Given the description of an element on the screen output the (x, y) to click on. 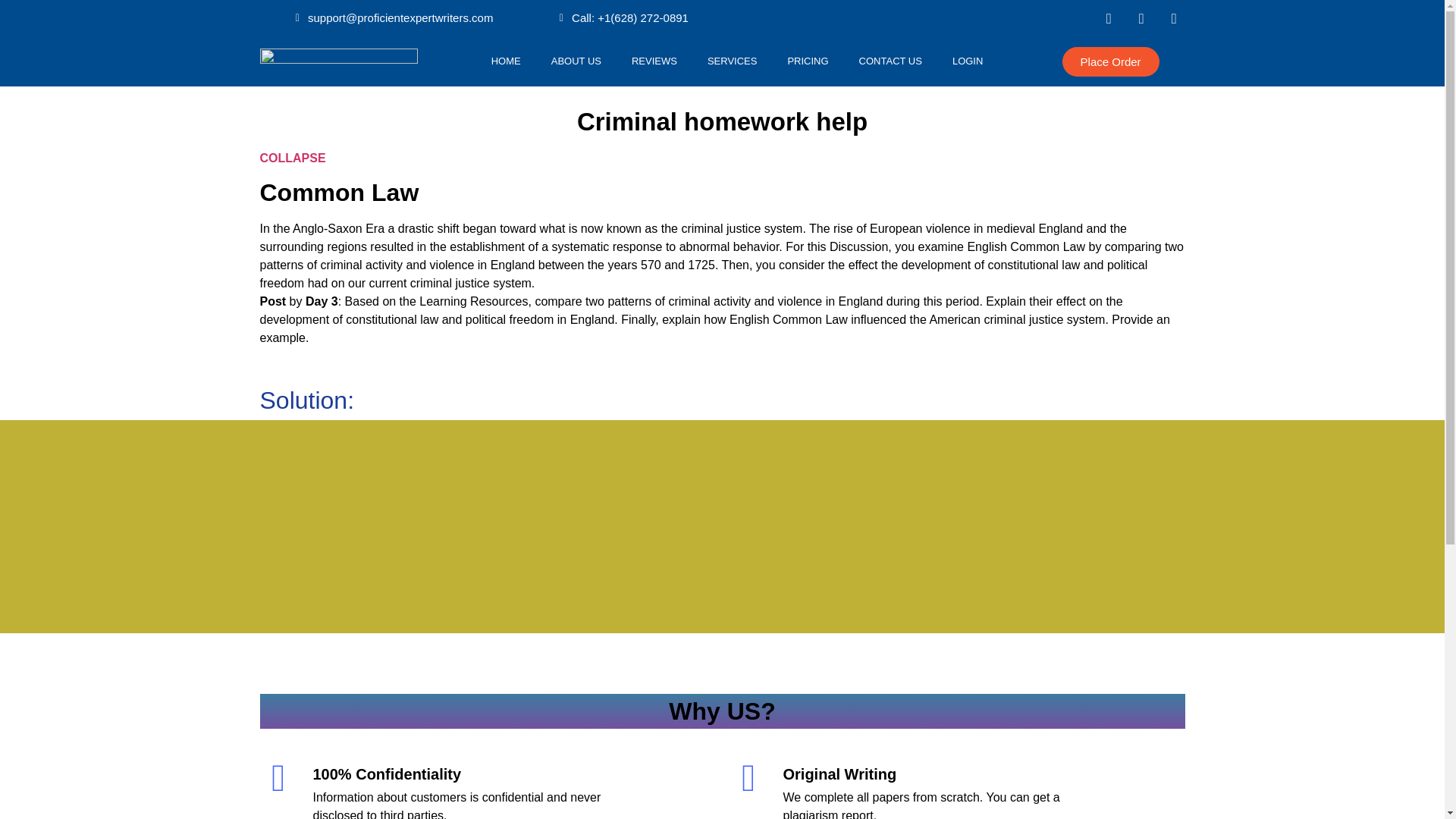
HOME (505, 61)
PRICING (807, 61)
Place Order (1110, 61)
LOGIN (967, 61)
CONTACT US (890, 61)
ABOUT US (575, 61)
REVIEWS (654, 61)
SERVICES (733, 61)
COLLAPSE (291, 157)
